Given the description of an element on the screen output the (x, y) to click on. 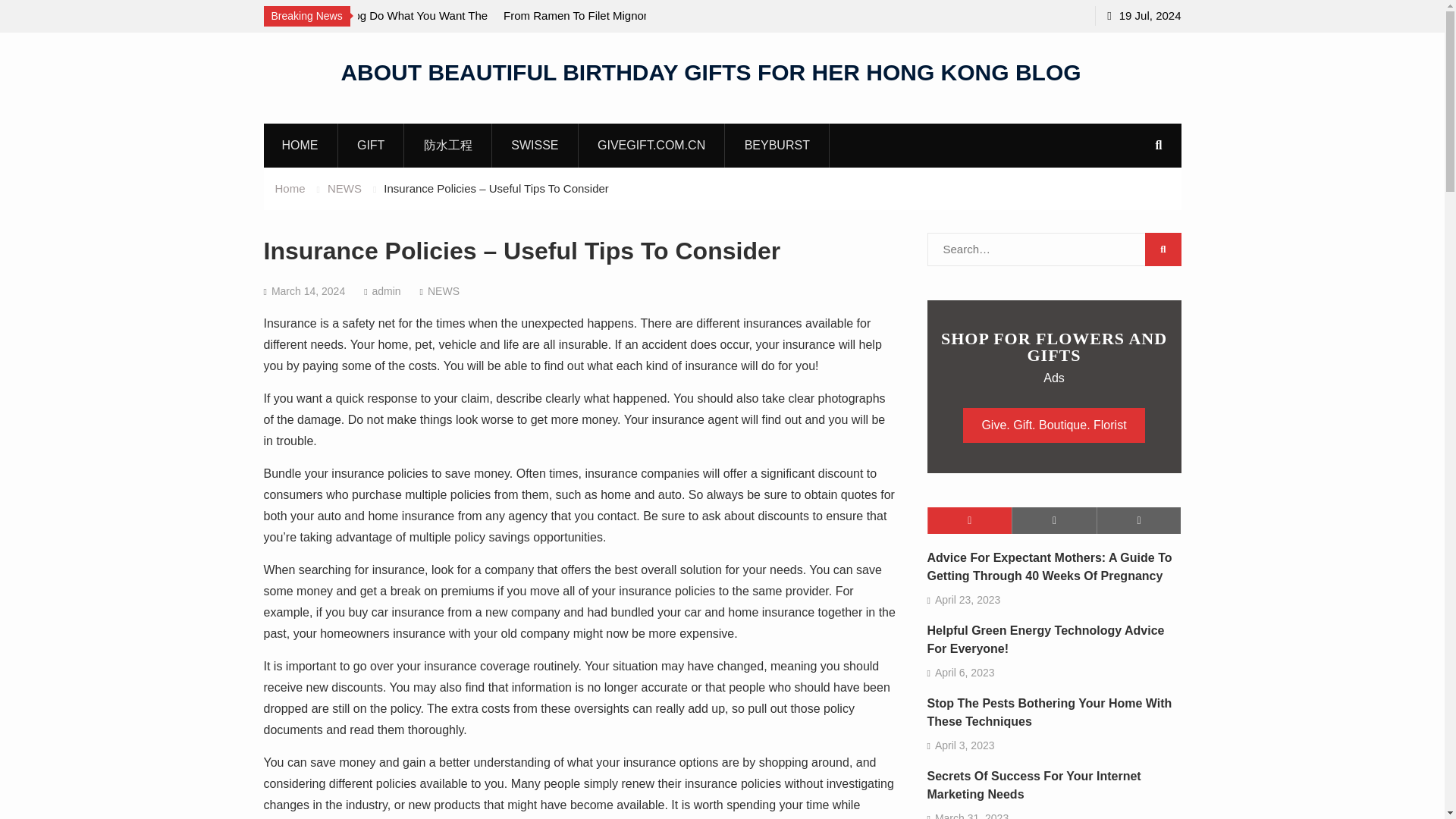
Give. Gift. Boutique. Florist (1053, 425)
March 14, 2024 (307, 291)
admin (385, 291)
From Ramen To Filet Mignon: Becoming A Better Chef (640, 25)
HOME (299, 144)
GIVEGIFT.COM.CN (651, 144)
BEYBURST (777, 144)
Learn How To Make Your Dog Do What You Want The First Time (352, 25)
NEWS (444, 291)
ABOUT BEAUTIFUL BIRTHDAY GIFTS FOR HER HONG KONG BLOG (710, 71)
Search for: (1053, 249)
NEWS (344, 187)
GIFT (370, 144)
Home (289, 187)
